Given the description of an element on the screen output the (x, y) to click on. 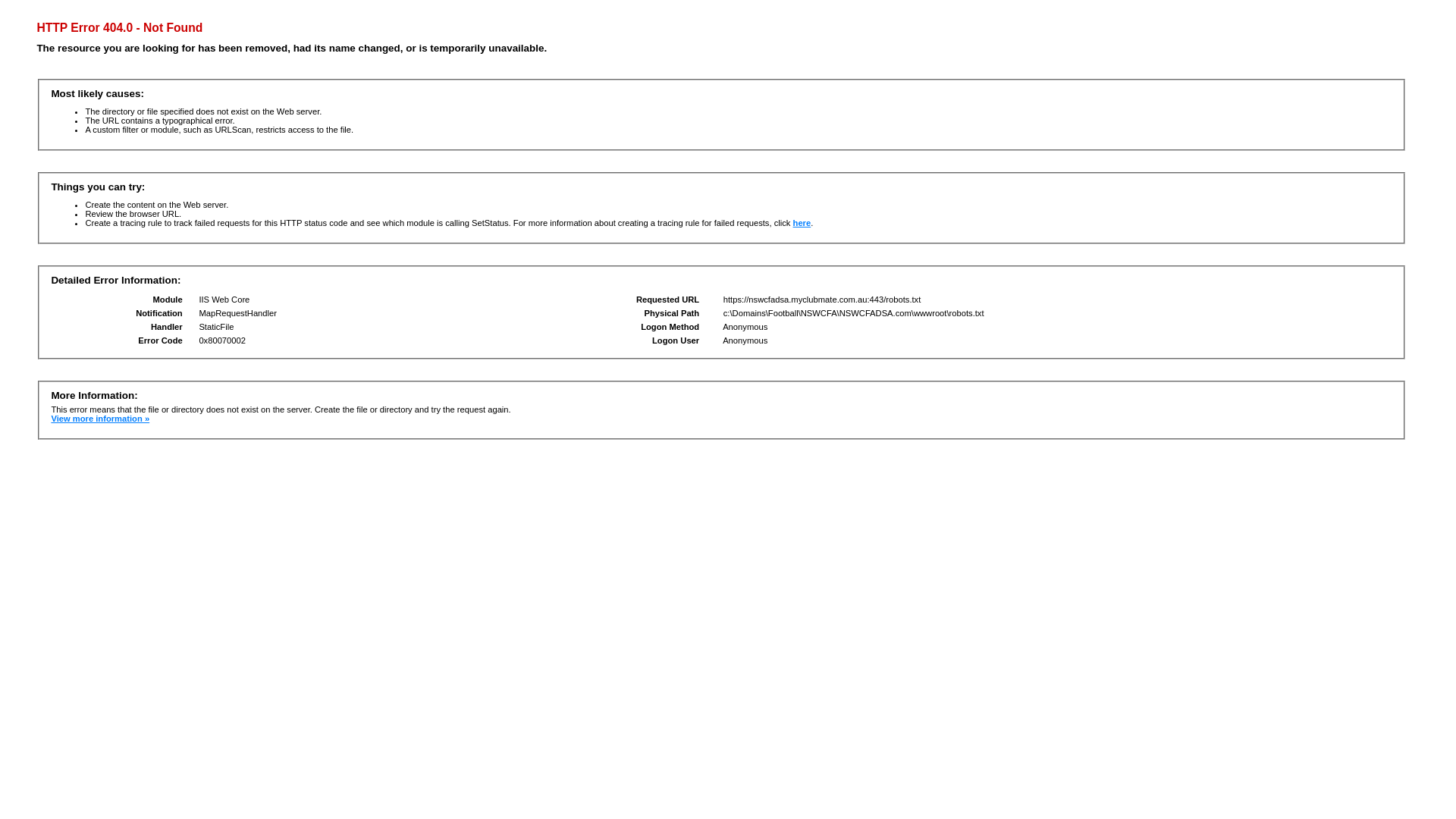
here Element type: text (802, 222)
